Given the description of an element on the screen output the (x, y) to click on. 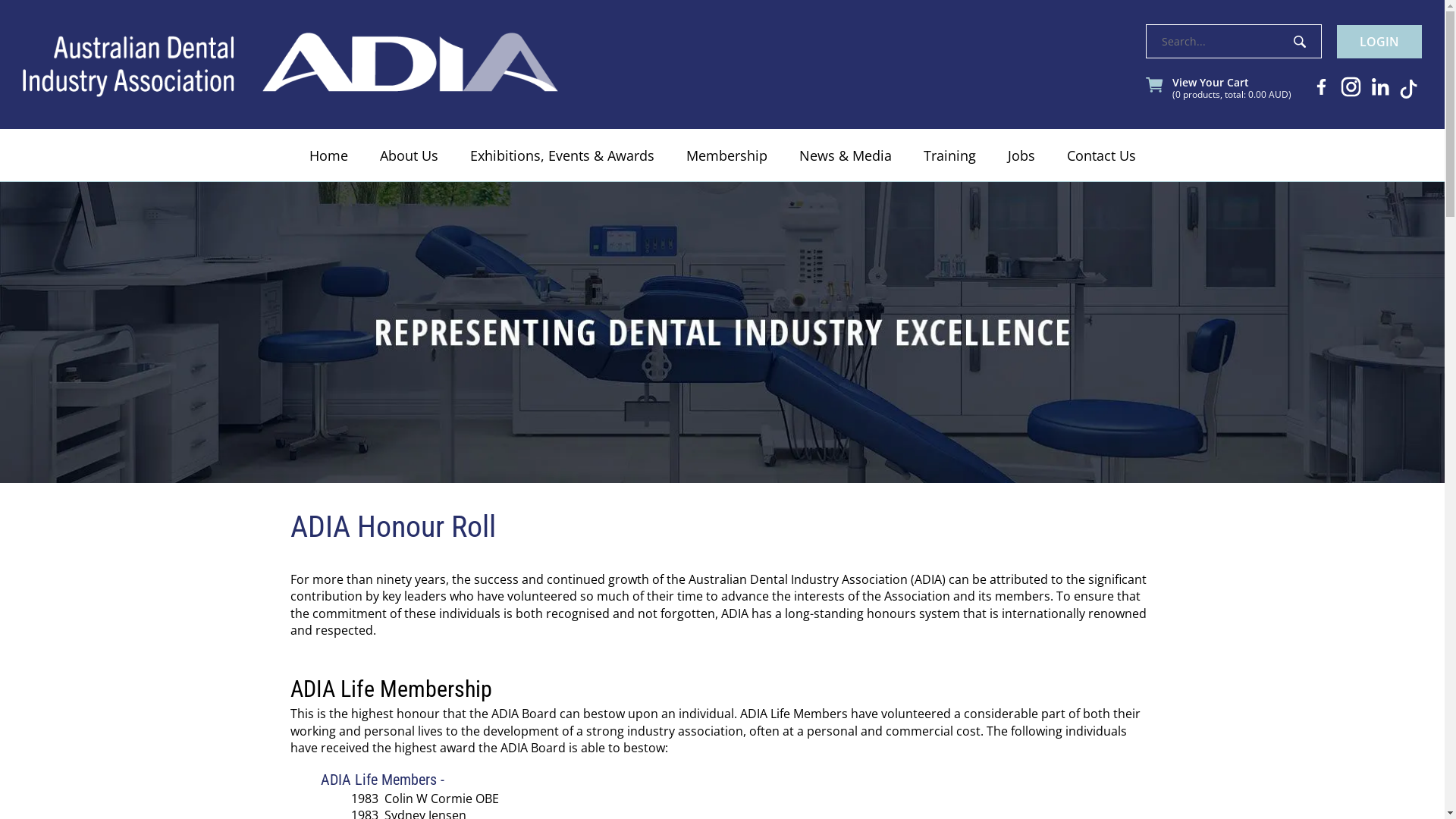
Australian Dental Industry Association Element type: hover (290, 63)
View Your Cart
(0 products, total: 0.00 AUD) Element type: text (1231, 89)
About Us Element type: text (409, 155)
LOGIN Element type: text (1378, 41)
ADIA Honour Roll | Australian Dental Industry Association Element type: hover (722, 332)
Contact Us Element type: text (1101, 155)
Home Element type: text (327, 155)
Jobs Element type: text (1021, 155)
Membership Element type: text (726, 155)
Exhibitions, Events & Awards Element type: text (561, 155)
News & Media Element type: text (844, 155)
Tiktok Element type: hover (1408, 88)
Training Element type: text (948, 155)
Search Element type: text (1299, 41)
